Given the description of an element on the screen output the (x, y) to click on. 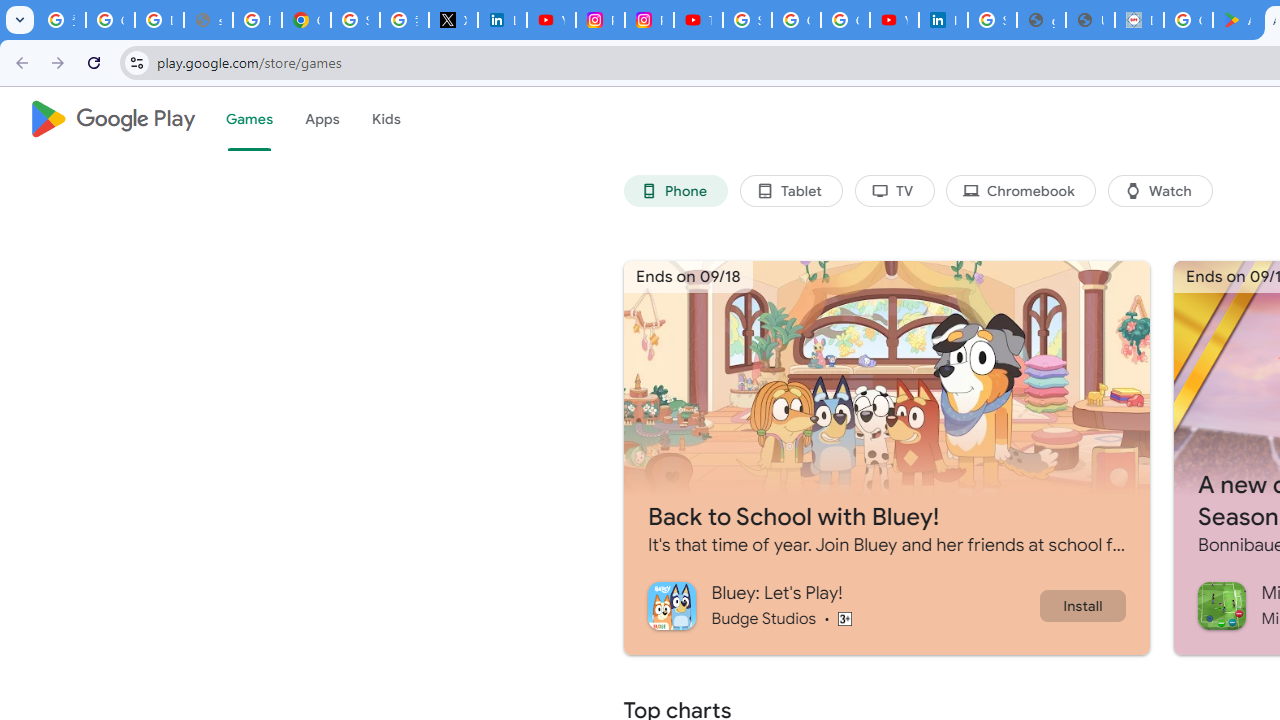
Sign in - Google Accounts (355, 20)
Phone (675, 190)
Privacy Help Center - Policies Help (257, 20)
Content rating Rated for 3+ (844, 618)
Android Apps on Google Play (1237, 20)
Chromebook (1020, 190)
X (452, 20)
